Given the description of an element on the screen output the (x, y) to click on. 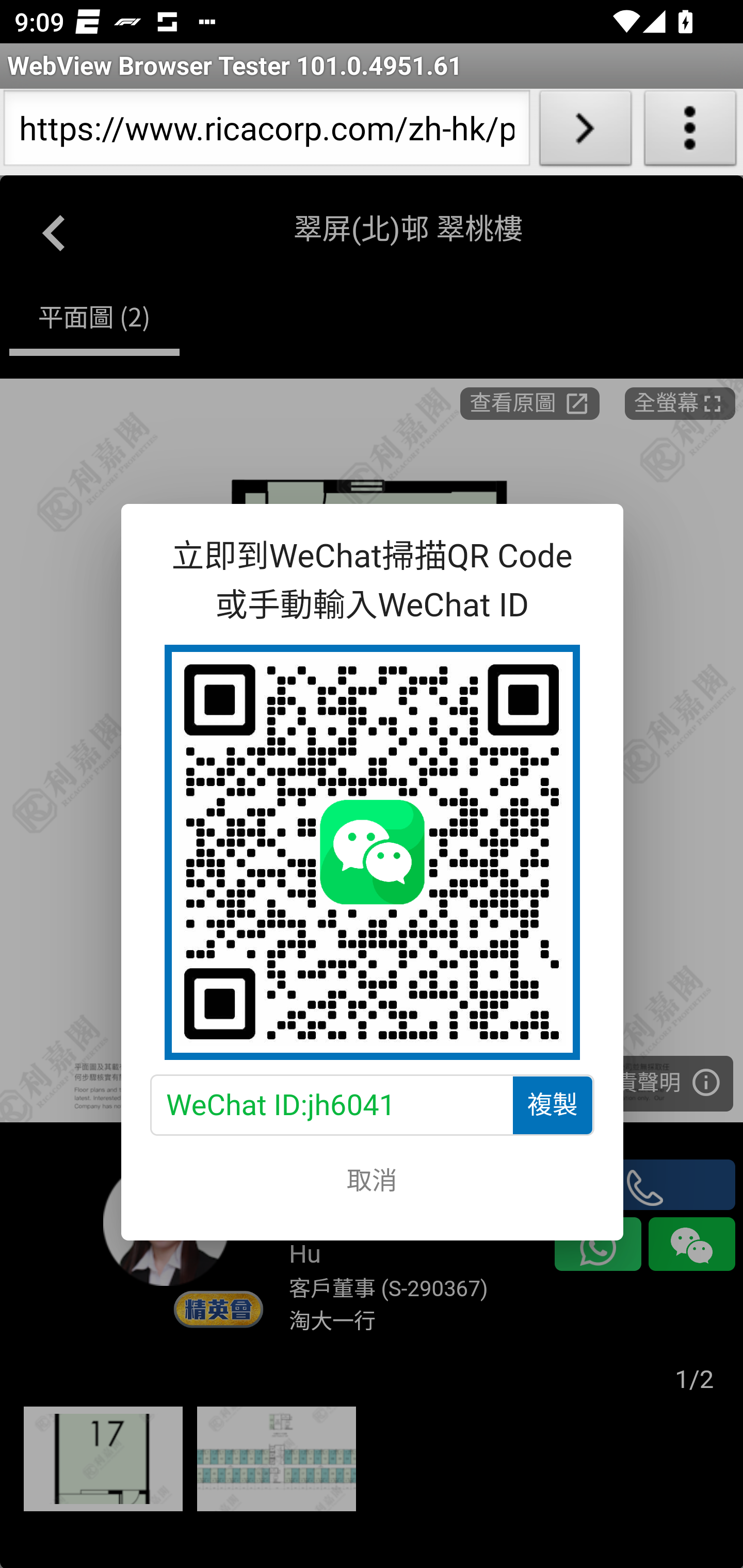
Load URL (585, 132)
About WebView (690, 132)
keyboard_arrow_left (54, 229)
ab5a7039-b069-4245-b2de-cd61d90e821b (371, 852)
複製 (551, 1104)
取消 (371, 1177)
